Given the description of an element on the screen output the (x, y) to click on. 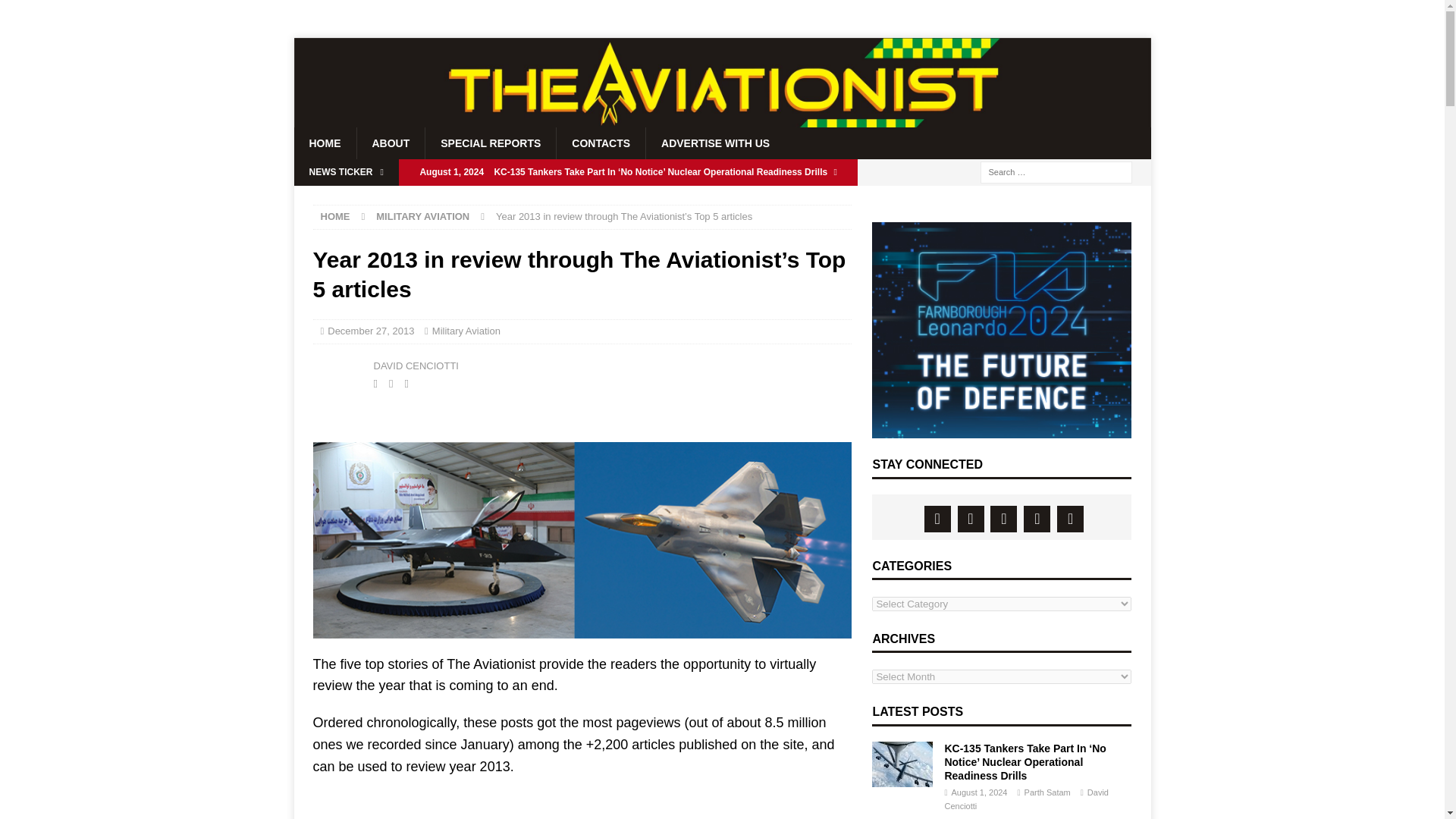
MILITARY AVIATION (421, 215)
ADVERTISE WITH US (714, 142)
HOME (325, 142)
Yearly summary cover (582, 540)
Military Aviation (466, 330)
SPECIAL REPORTS (490, 142)
David Cenciotti (339, 373)
December 27, 2013 (370, 330)
HOME (334, 215)
ABOUT (390, 142)
The Aviationist (722, 121)
DAVID CENCIOTTI (415, 365)
Search (56, 11)
CONTACTS (600, 142)
